Given the description of an element on the screen output the (x, y) to click on. 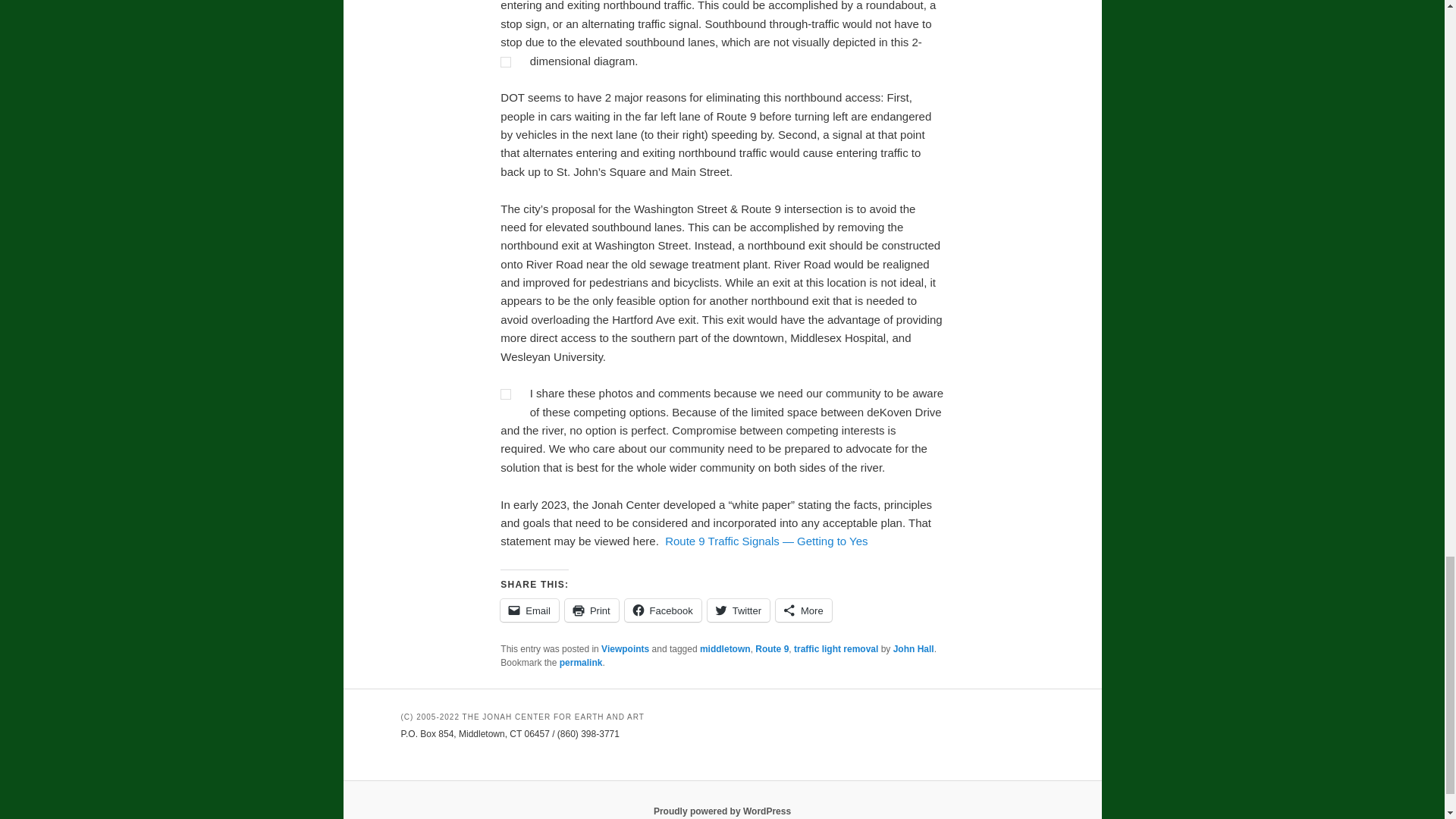
Click to share on Facebook (662, 609)
Email (529, 609)
Click to share on Twitter (738, 609)
Click to email a link to a friend (529, 609)
Click to print (591, 609)
Semantic Personal Publishing Platform (721, 810)
